Given the description of an element on the screen output the (x, y) to click on. 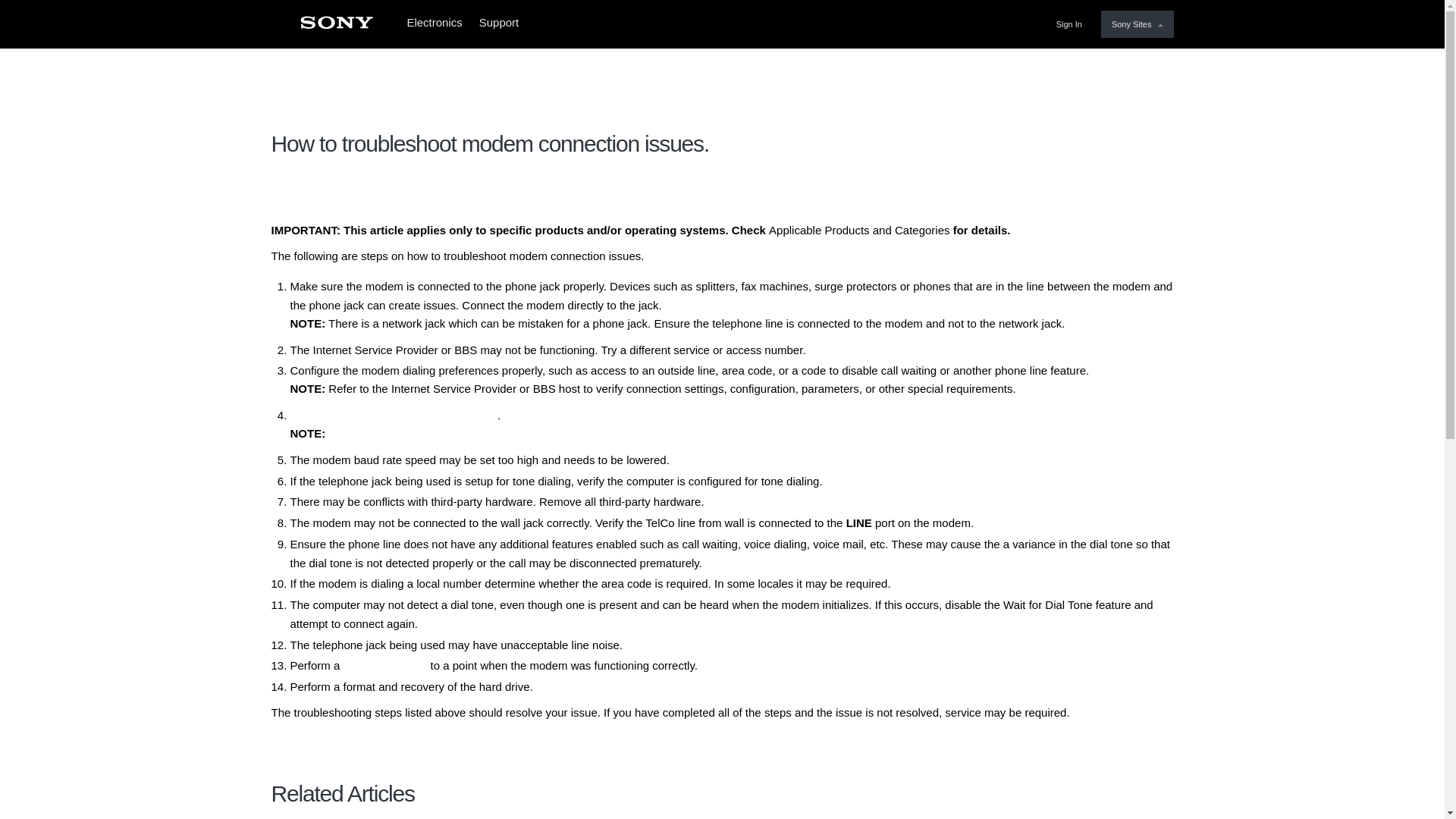
Sony Sites (1136, 23)
Sign In (1072, 23)
Support (504, 24)
SONY (336, 26)
Electronics (434, 24)
SONY (336, 26)
